Given the description of an element on the screen output the (x, y) to click on. 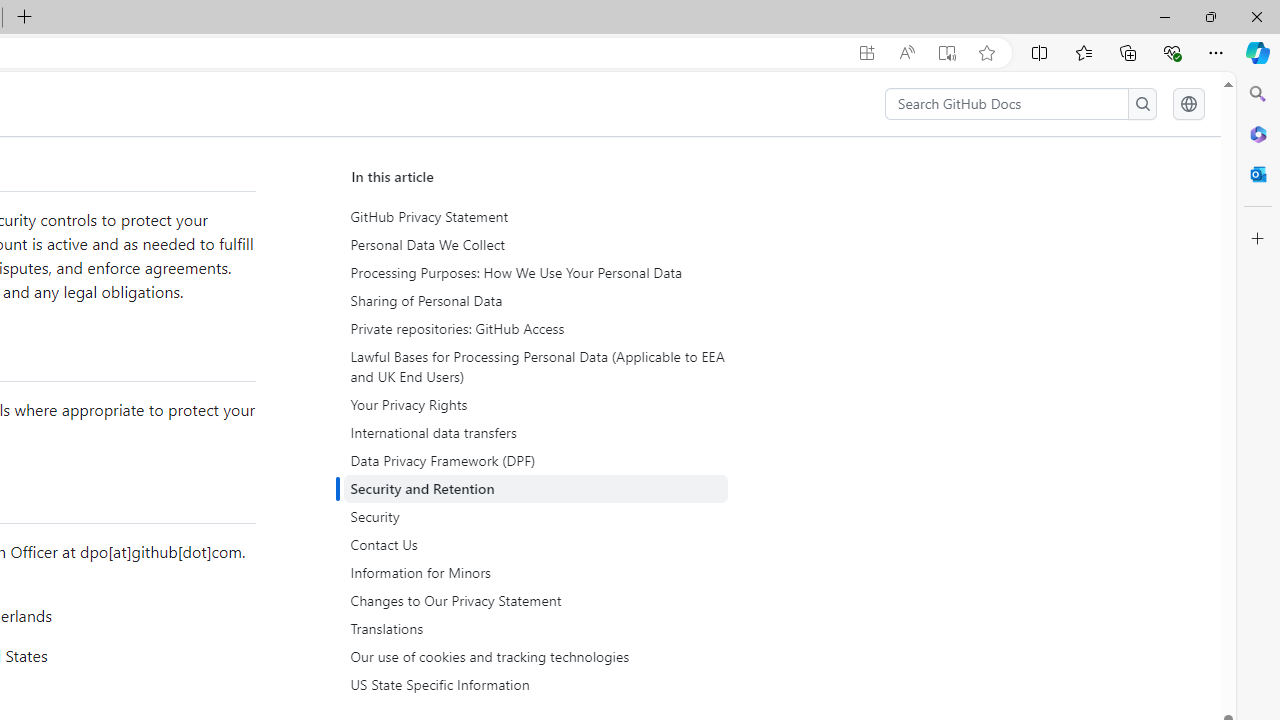
GitHub Privacy Statement (535, 217)
Private repositories: GitHub Access (538, 328)
Contact Us (535, 544)
International data transfers (535, 433)
Translations (538, 628)
Sharing of Personal Data (535, 301)
International data transfers (538, 433)
Search GitHub Docs (1006, 103)
Security and Retention (538, 489)
Data Privacy Framework (DPF) (535, 461)
